Given the description of an element on the screen output the (x, y) to click on. 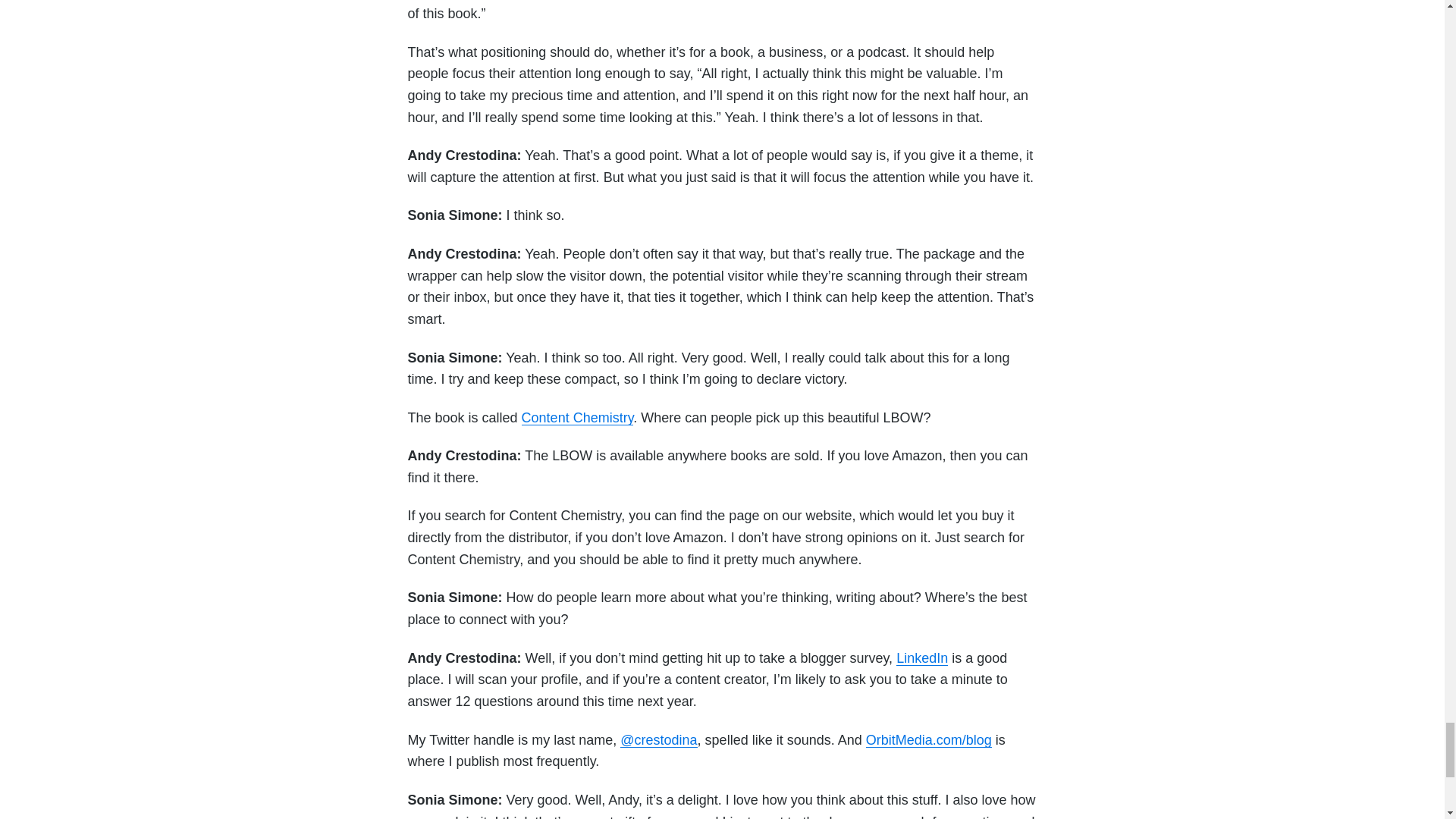
Content Chemistry (577, 417)
LinkedIn (921, 657)
